Given the description of an element on the screen output the (x, y) to click on. 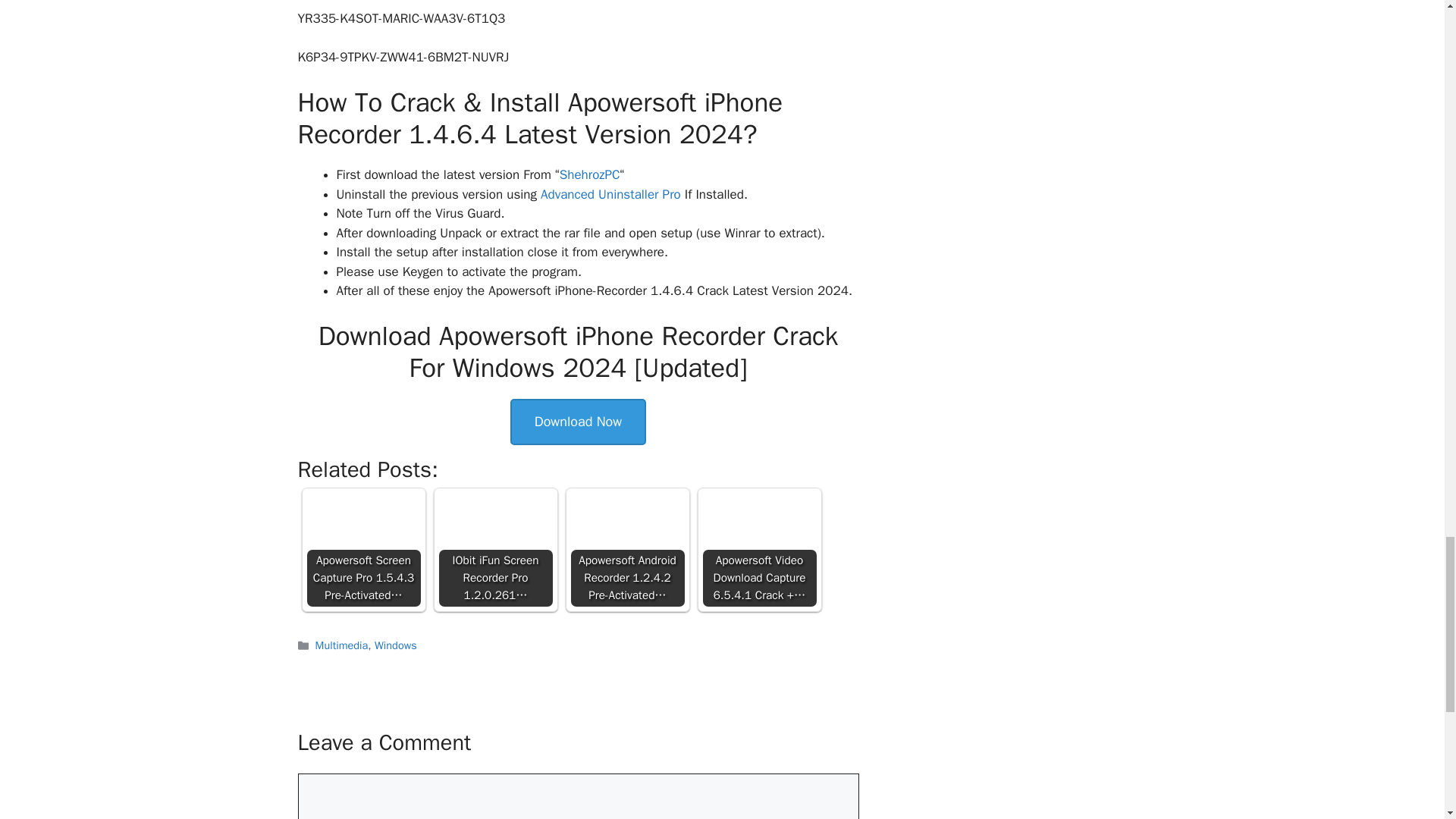
Download Now (578, 421)
Advanced Uninstaller Pro (610, 194)
ShehrozPC (589, 174)
